Given the description of an element on the screen output the (x, y) to click on. 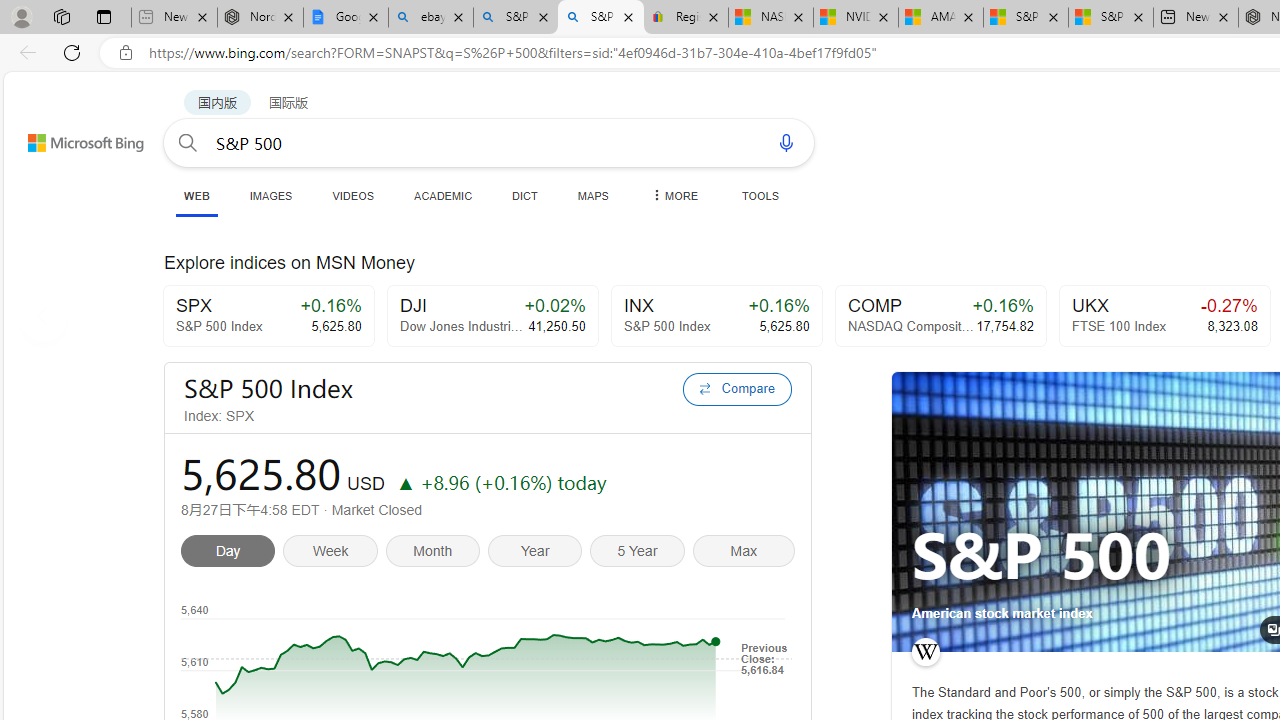
Max (743, 553)
ACADEMIC (443, 195)
Dropdown Menu (673, 195)
MORE (673, 195)
INX+0.16%S&P 500 Index5,625.80 (716, 315)
Wikipedia (925, 651)
TOOLS (760, 195)
S&P 500 - Search (600, 17)
UKX-0.27%FTSE 100 Index8,323.08 (1164, 315)
COMP +0.16% NASDAQ Composite Index 17,754.82 (940, 315)
VIDEOS (352, 195)
Search button (187, 142)
